Given the description of an element on the screen output the (x, y) to click on. 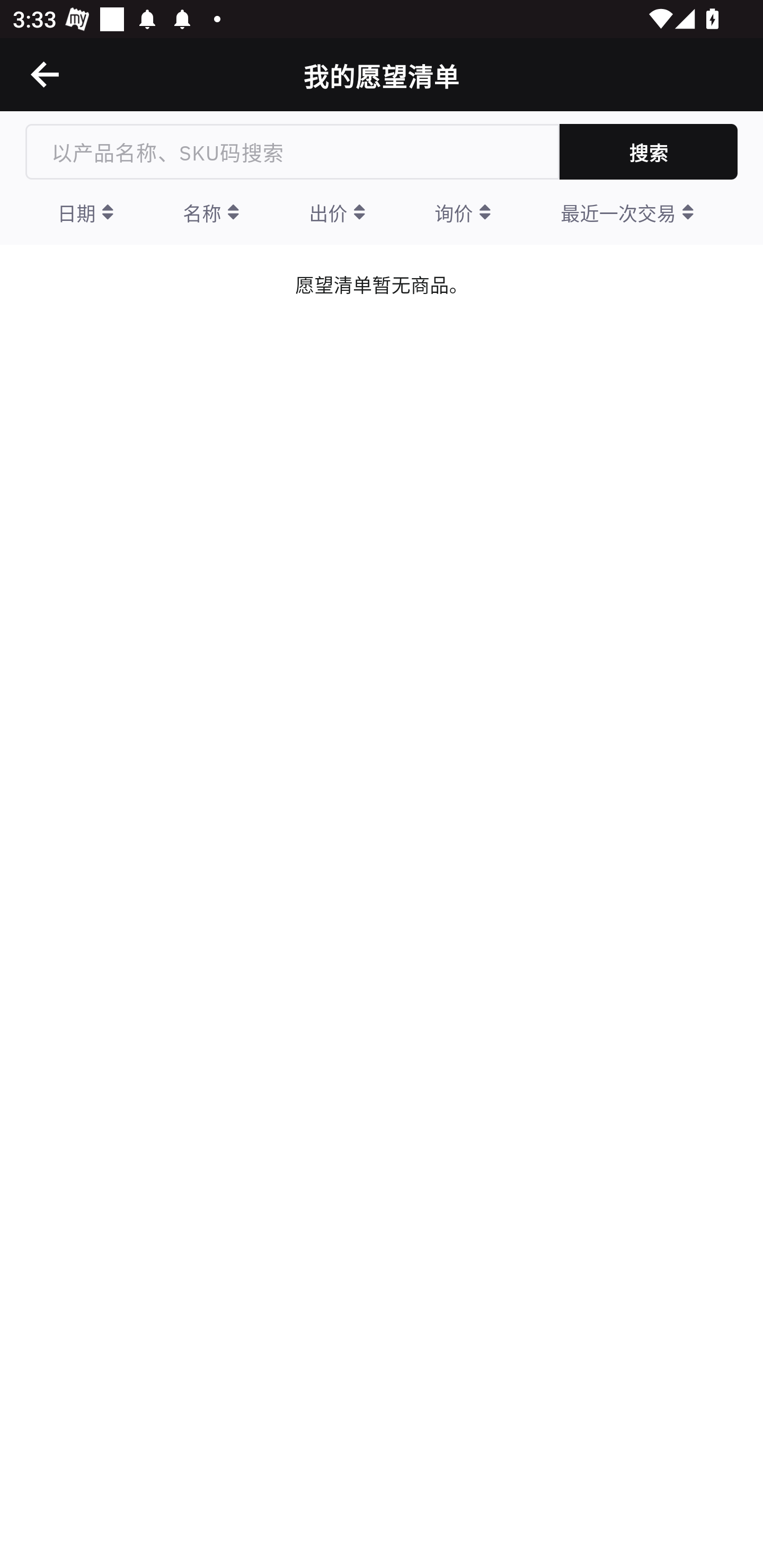
 (46, 74)
以产品名称、SKU码搜索 (292, 151)
搜索 (648, 151)
日期  (85, 212)
名称  (210, 212)
出价  (336, 212)
询价  (462, 212)
最近一次交易  (626, 212)
